Given the description of an element on the screen output the (x, y) to click on. 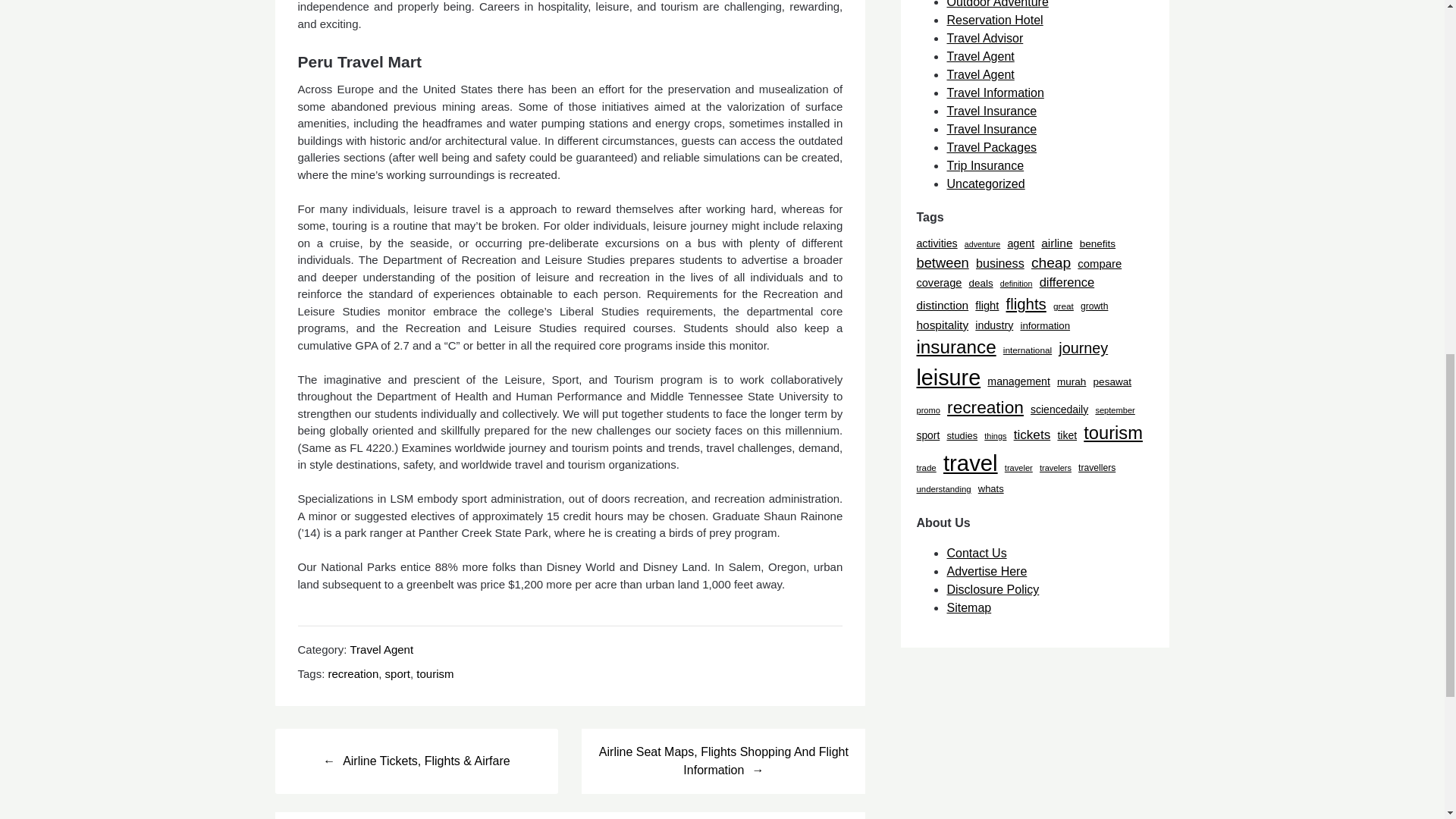
Airline Seat Maps, Flights Shopping And Flight Information (722, 760)
Travel Agent (381, 649)
sport (397, 673)
tourism (434, 673)
recreation (353, 673)
